Given the description of an element on the screen output the (x, y) to click on. 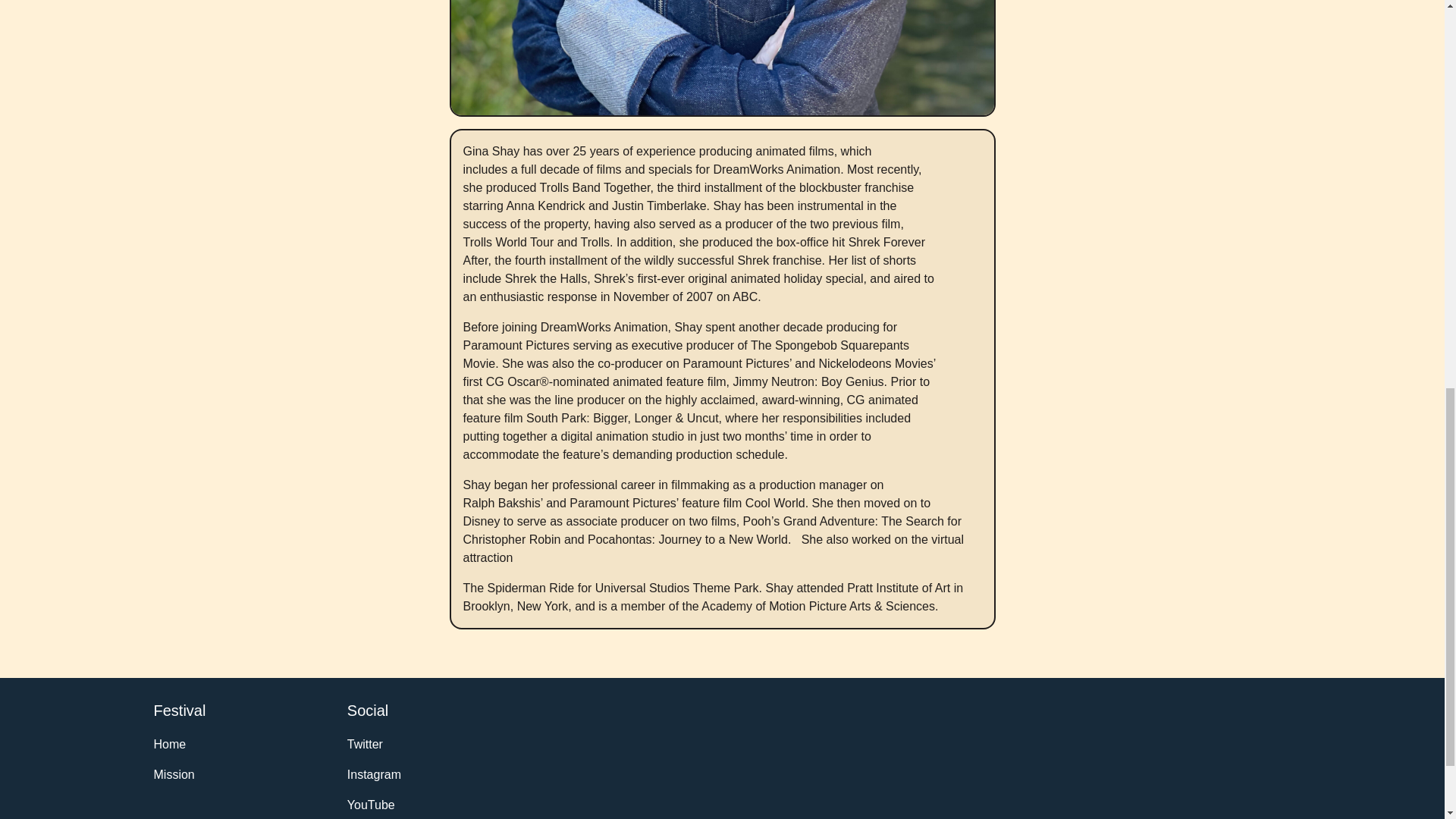
Mission (232, 773)
Twitter (426, 743)
Instagram (426, 773)
YouTube (426, 803)
Home (232, 743)
